Given the description of an element on the screen output the (x, y) to click on. 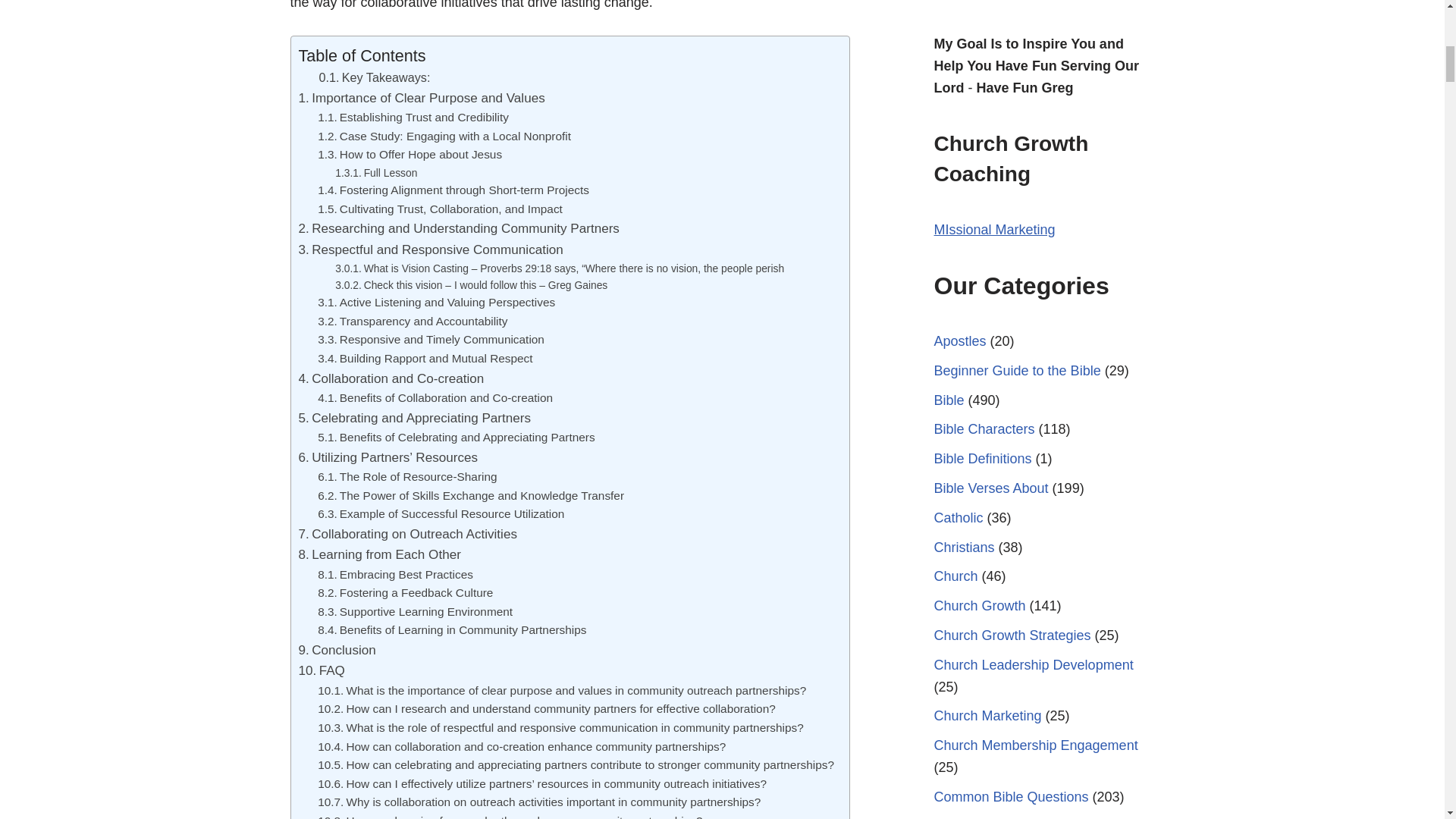
Importance of Clear Purpose and Values (421, 97)
How to Offer Hope about Jesus (409, 154)
Full Lesson (375, 172)
Case Study: Engaging with a Local Nonprofit (443, 136)
Researching and Understanding Community Partners (459, 228)
Key Takeaways: (373, 77)
Establishing Trust and Credibility (412, 117)
Active Listening and Valuing Perspectives (435, 302)
Fostering Alignment through Short-term Projects (453, 189)
Cultivating Trust, Collaboration, and Impact (439, 209)
